Given the description of an element on the screen output the (x, y) to click on. 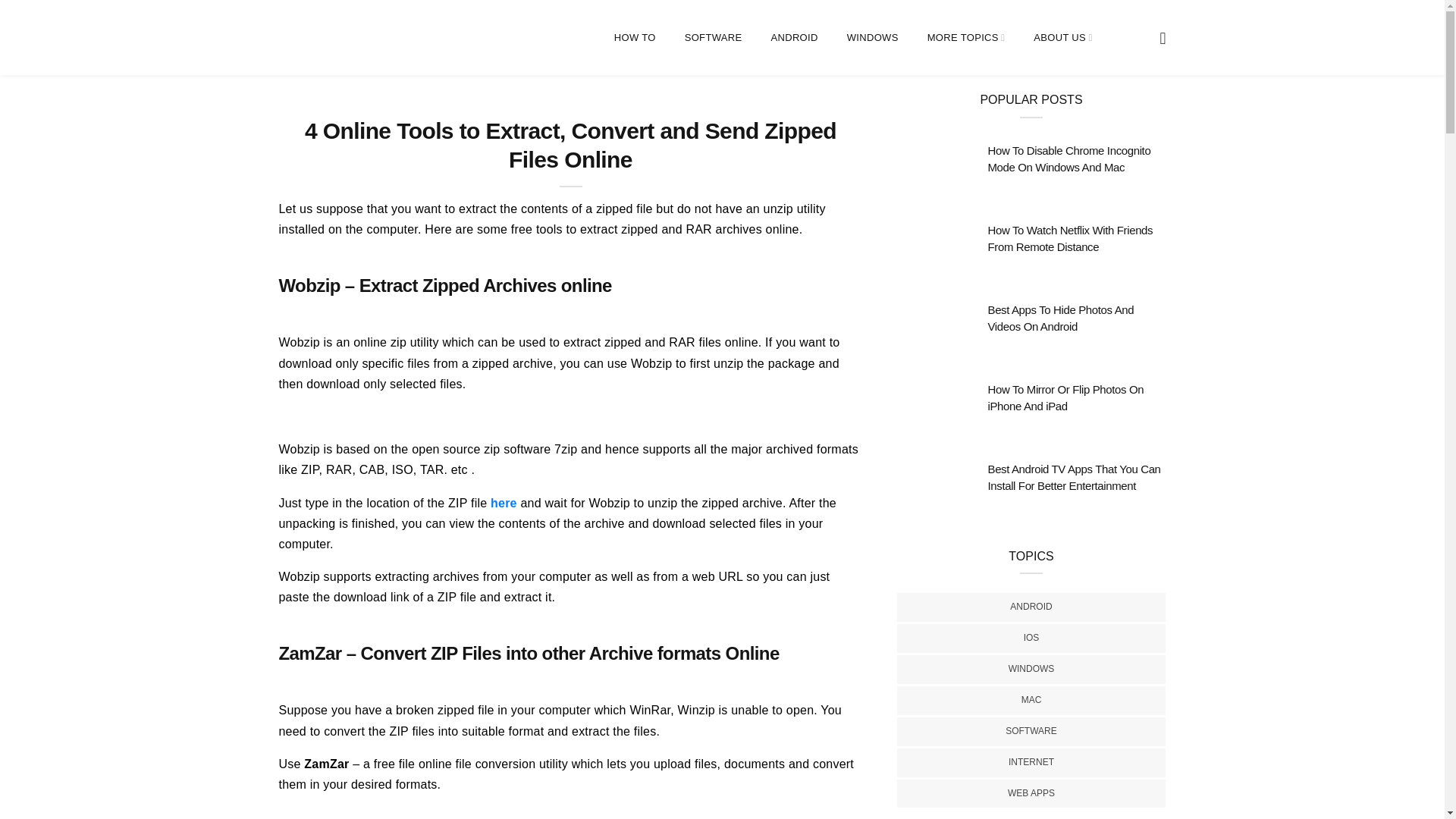
WINDOWS (872, 37)
here (503, 502)
HOW TO (635, 37)
ANDROID (793, 37)
How To Watch Netflix With Friends From Remote Distance (1070, 238)
How To Disable Chrome Incognito Mode On Windows And Mac (1068, 159)
ZamZar (326, 763)
MORE TOPICS (966, 37)
ABOUT US (1062, 37)
SOFTWARE (713, 37)
